Given the description of an element on the screen output the (x, y) to click on. 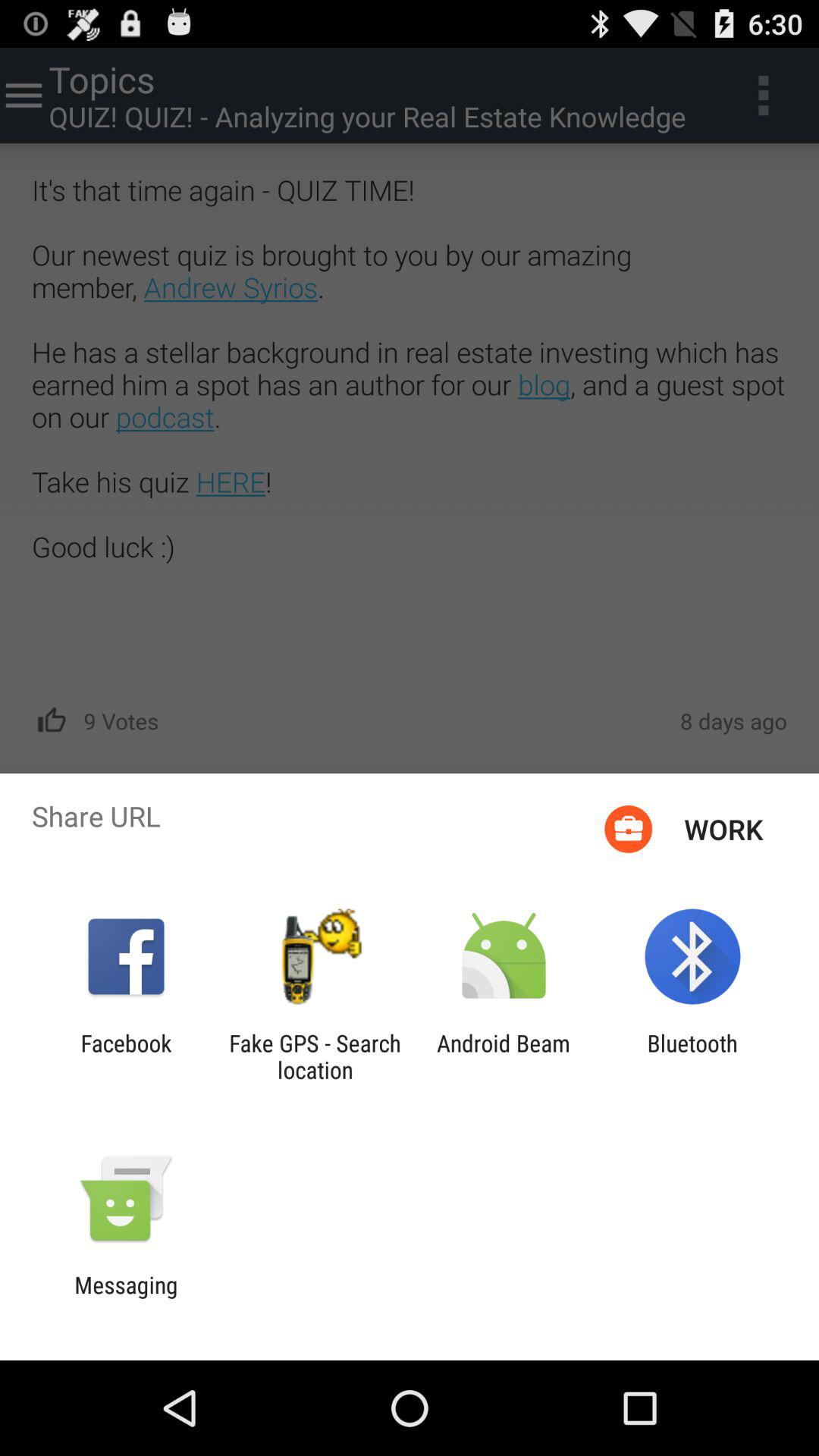
turn on android beam icon (503, 1056)
